Given the description of an element on the screen output the (x, y) to click on. 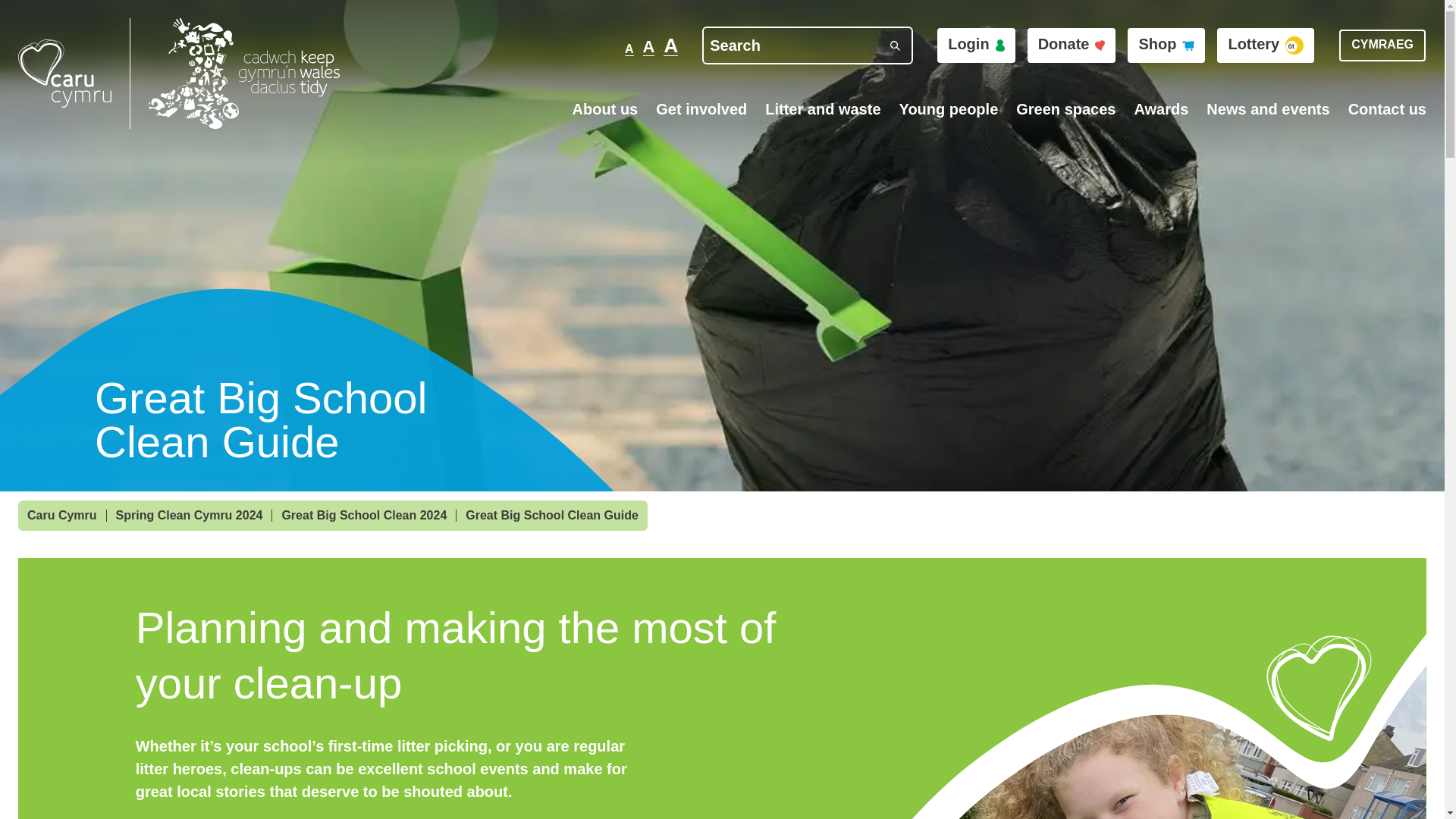
Get involved (701, 108)
Type search term here (806, 45)
Litter and waste (822, 108)
Donate (1071, 45)
Shop (1165, 45)
Lottery (1265, 45)
Login (975, 45)
CYMRAEG (1382, 45)
About us (605, 108)
Young people (948, 108)
